Given the description of an element on the screen output the (x, y) to click on. 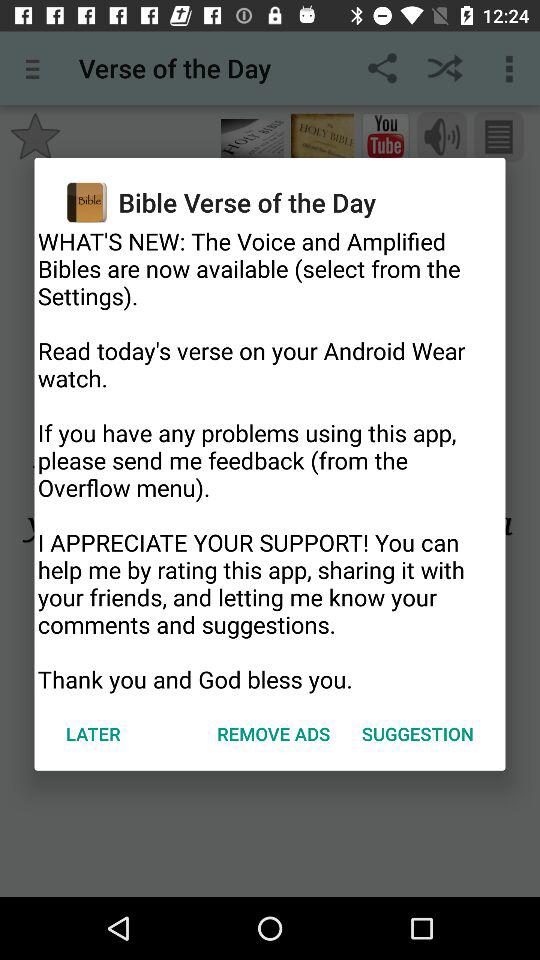
tap item at the bottom left corner (93, 733)
